Given the description of an element on the screen output the (x, y) to click on. 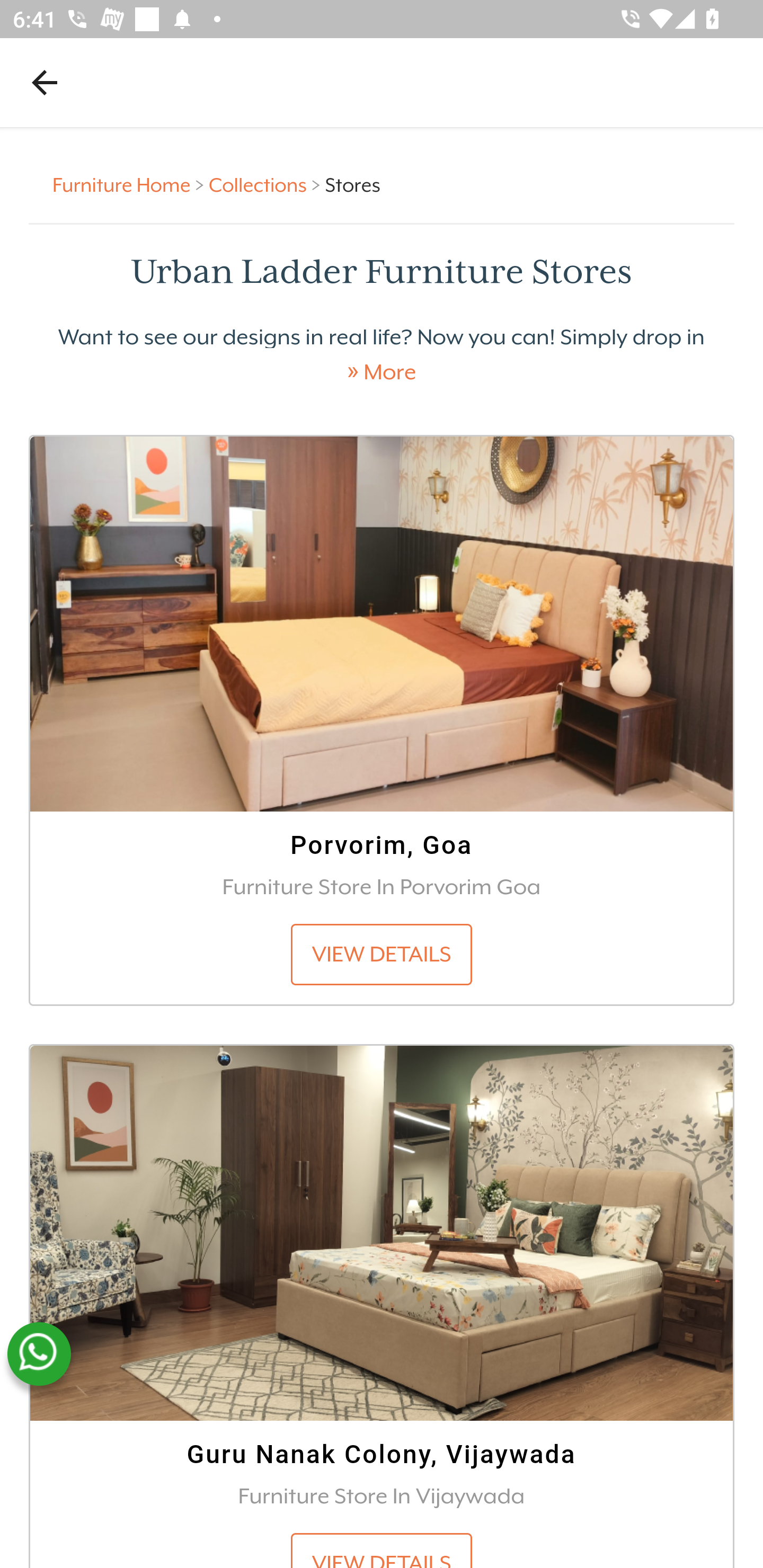
Navigate up (44, 82)
Furniture Home >  Furniture Home  >  (130, 184)
Collections >  Collections  >  (266, 184)
» More (381, 372)
VIEW DETAILS (381, 953)
whatsapp (38, 1353)
